Given the description of an element on the screen output the (x, y) to click on. 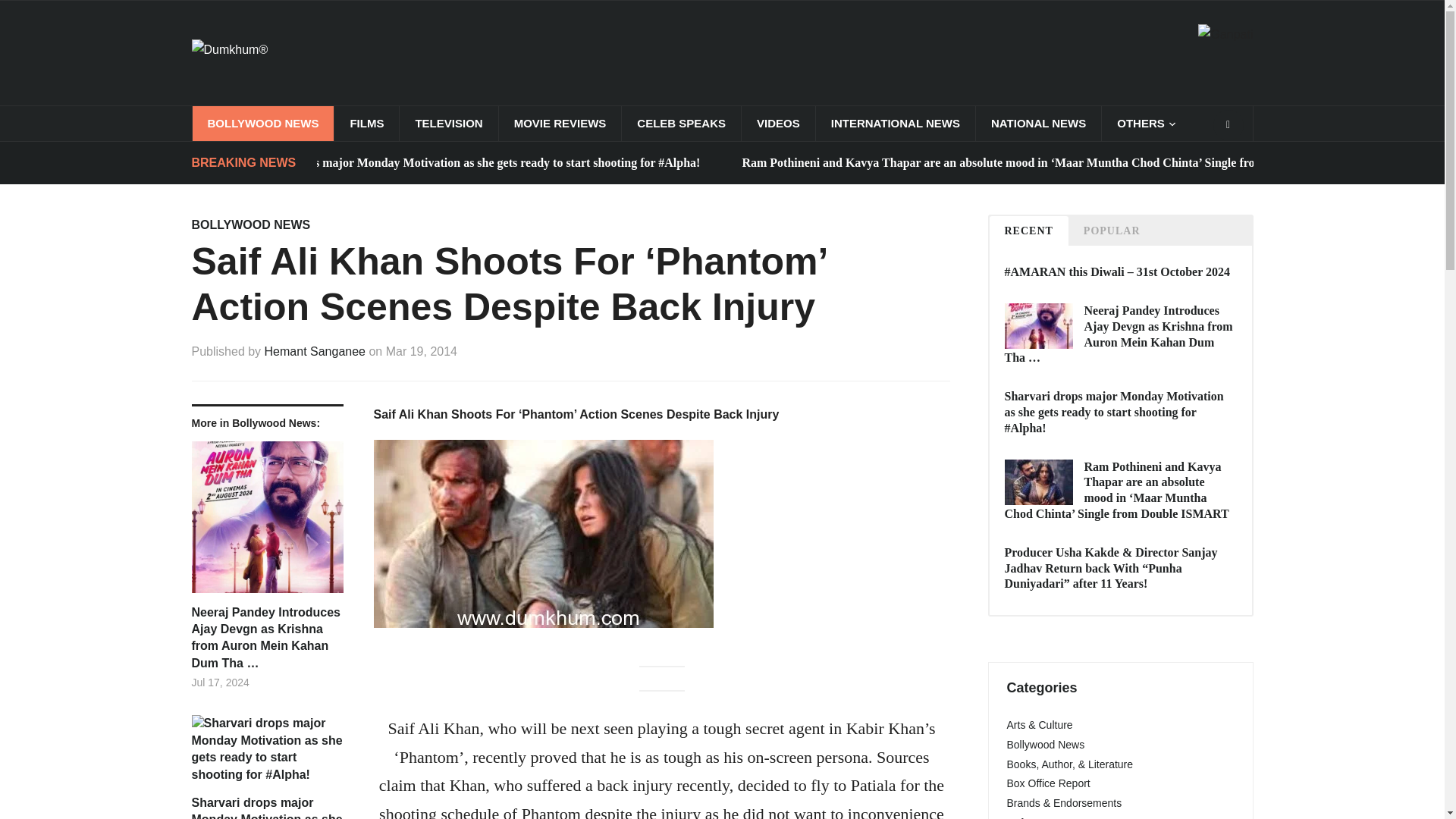
Recent (1027, 230)
Phantom - Film Still (542, 533)
Posts by Hemant Sanganee (314, 350)
